Given the description of an element on the screen output the (x, y) to click on. 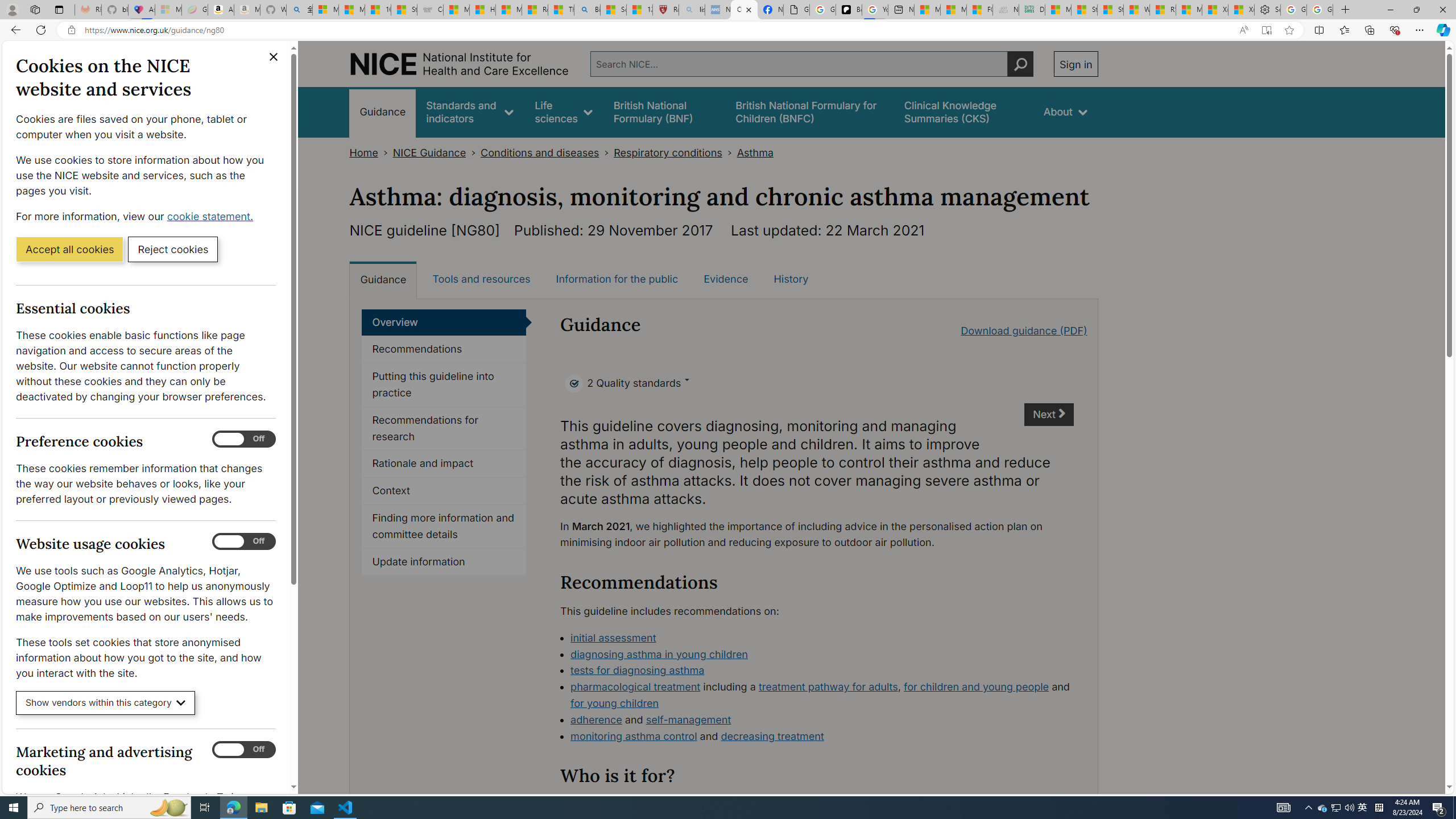
Overview (443, 321)
diagnosing asthma in young children (659, 653)
Update information (444, 561)
Recipes - MSN (534, 9)
for young children (614, 702)
Recommendations (444, 349)
for children and young people (976, 686)
Asthma (755, 152)
Conditions and diseases (539, 152)
Robert H. Shmerling, MD - Harvard Health (665, 9)
Show vendors within this category (105, 703)
Asthma Inhalers: Names and Types (141, 9)
Overview (444, 321)
